Given the description of an element on the screen output the (x, y) to click on. 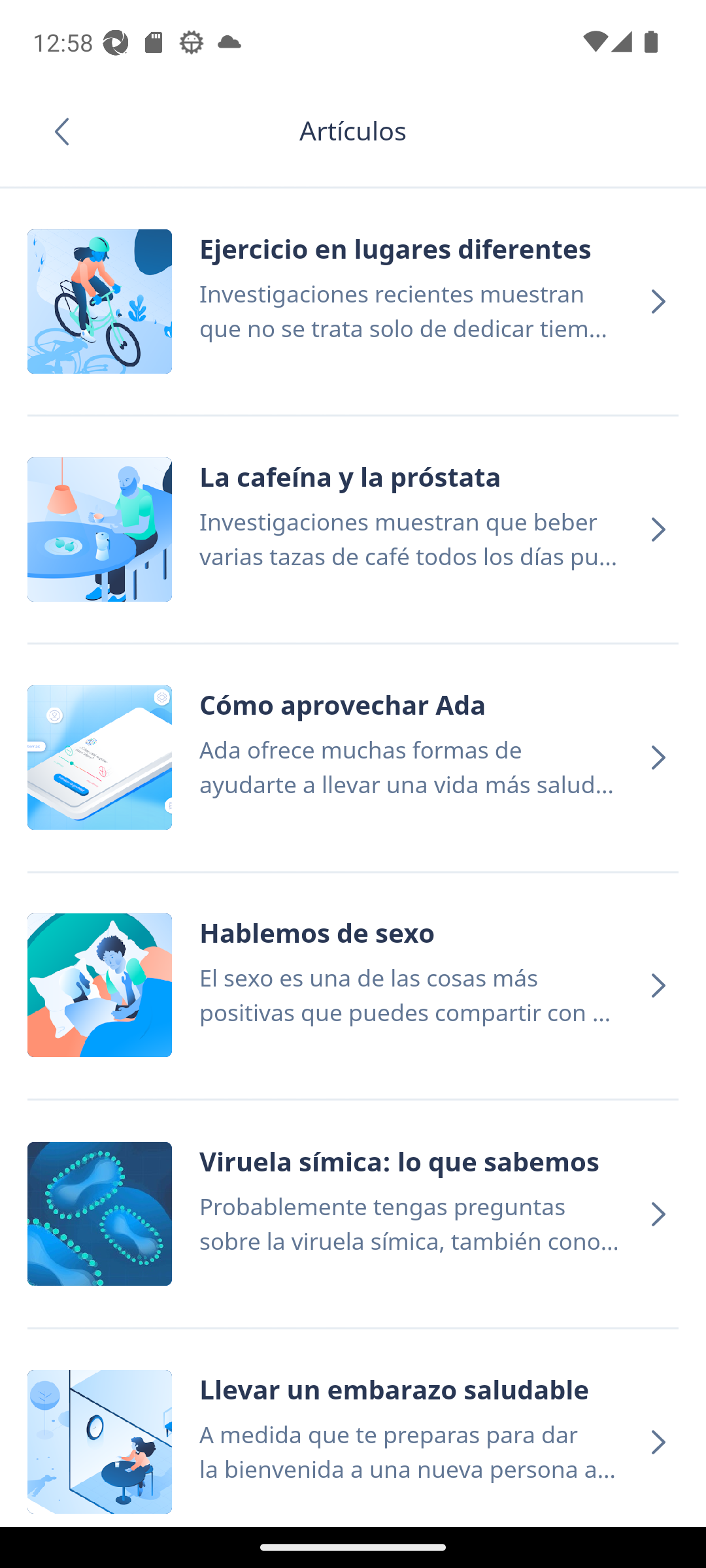
Go back, Navigates to the previous screen (68, 131)
